Given the description of an element on the screen output the (x, y) to click on. 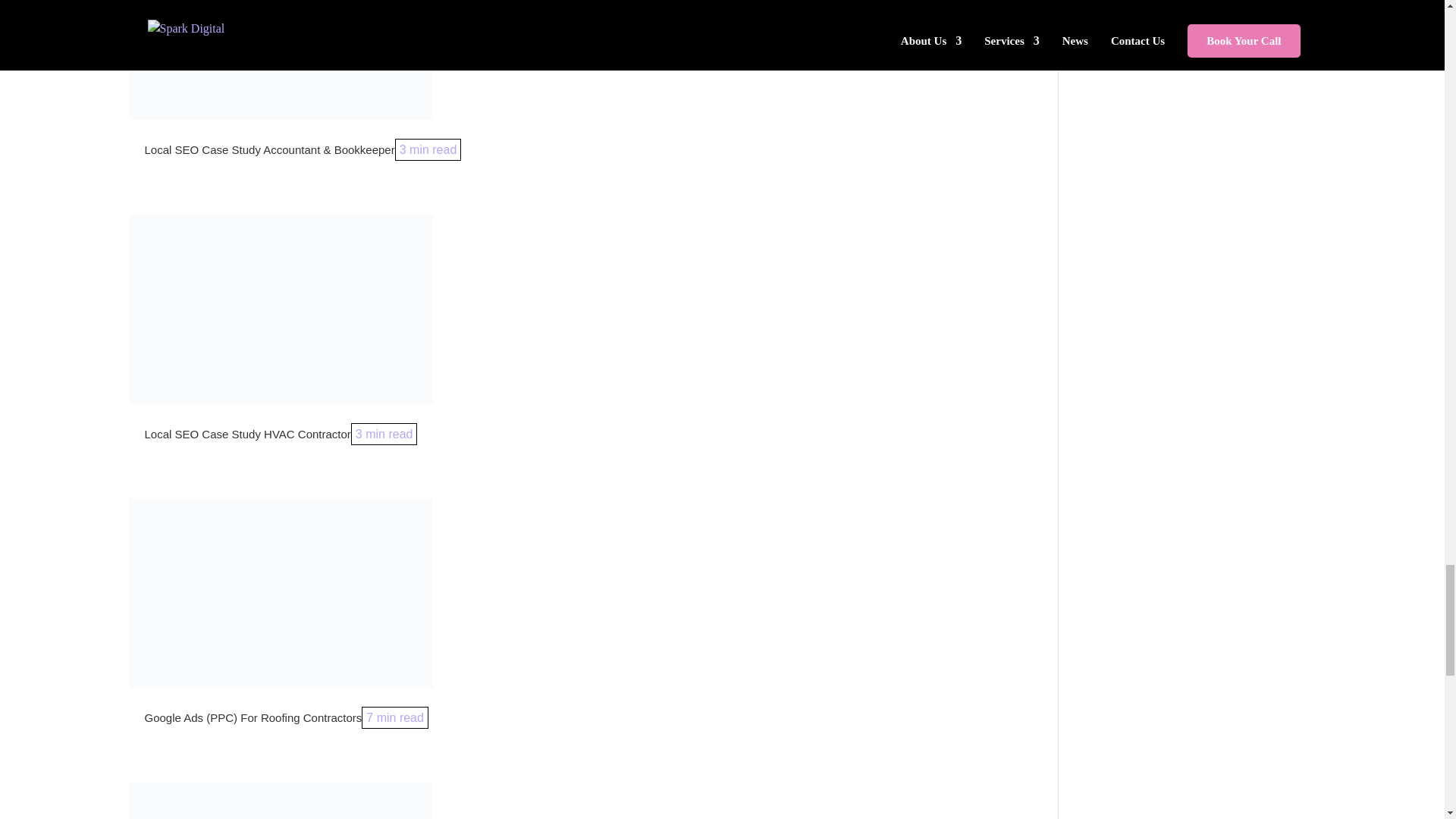
Local SEO Case Study HVAC Contractor3 min read (280, 434)
